Given the description of an element on the screen output the (x, y) to click on. 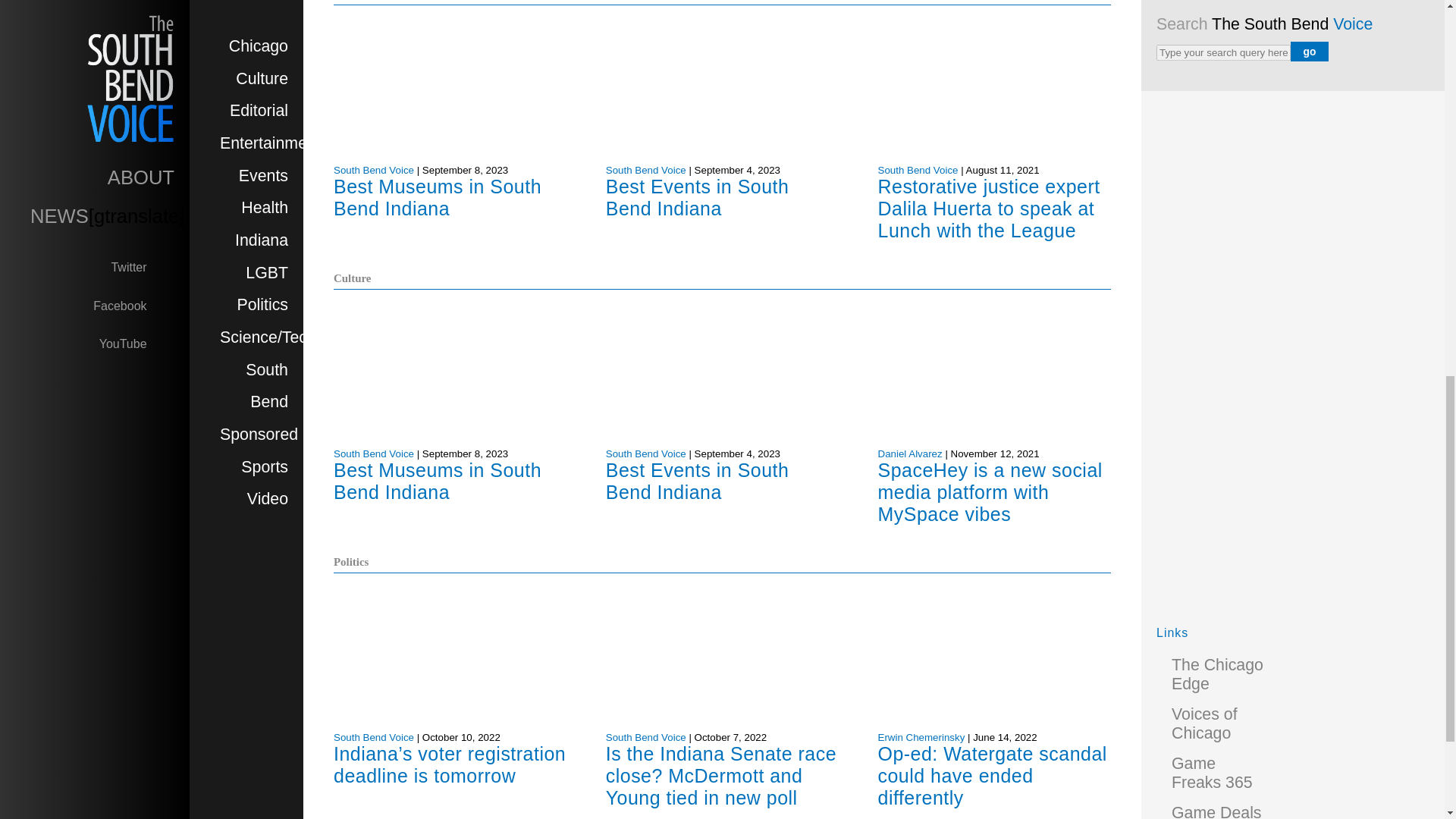
Posts by South Bend Voice (645, 737)
Posts by South Bend Voice (645, 453)
Posts by Daniel Alvarez (909, 453)
Posts by South Bend Voice (373, 737)
Posts by Erwin Chemerinsky (921, 737)
Posts by South Bend Voice (373, 170)
Posts by South Bend Voice (373, 453)
Posts by South Bend Voice (645, 170)
Posts by South Bend Voice (917, 170)
